Given the description of an element on the screen output the (x, y) to click on. 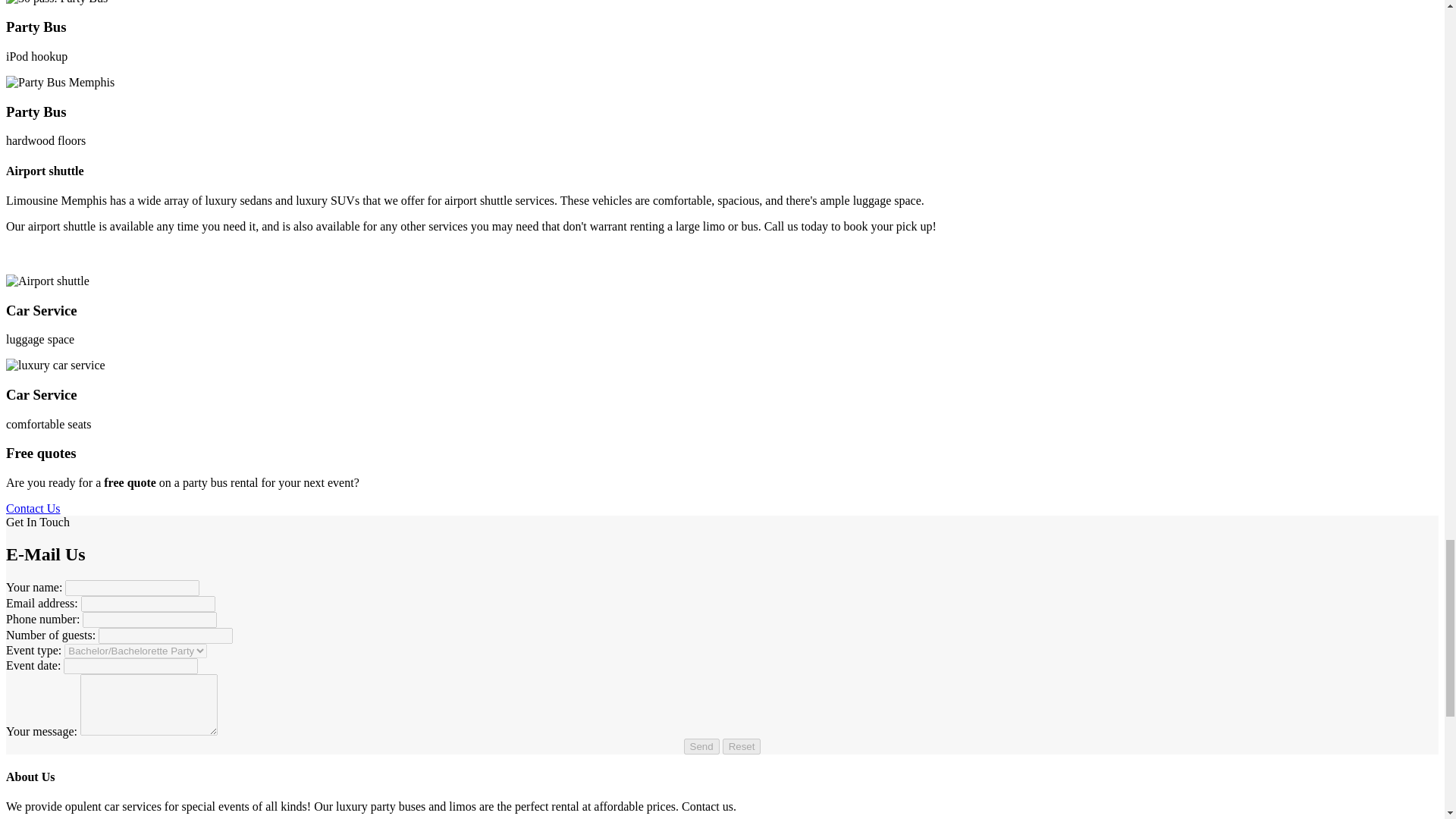
Contact Us (33, 508)
Reset (741, 746)
Send (701, 746)
Send (701, 746)
